Given the description of an element on the screen output the (x, y) to click on. 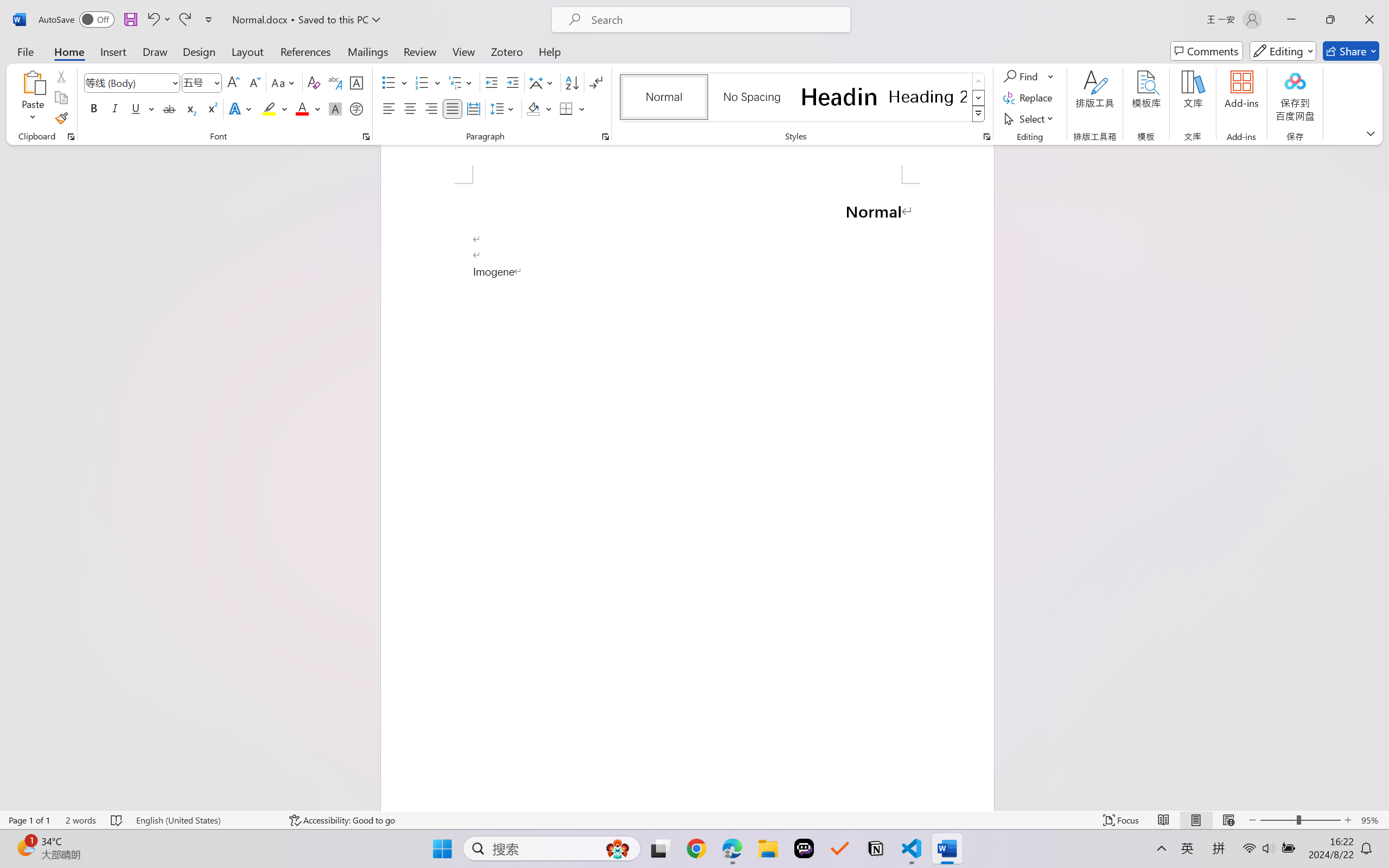
Font Color (308, 108)
Copy (60, 97)
Align Left (388, 108)
Open (215, 82)
Strikethrough (169, 108)
Grow Font (233, 82)
Cut (60, 75)
Row Down (978, 97)
